Given the description of an element on the screen output the (x, y) to click on. 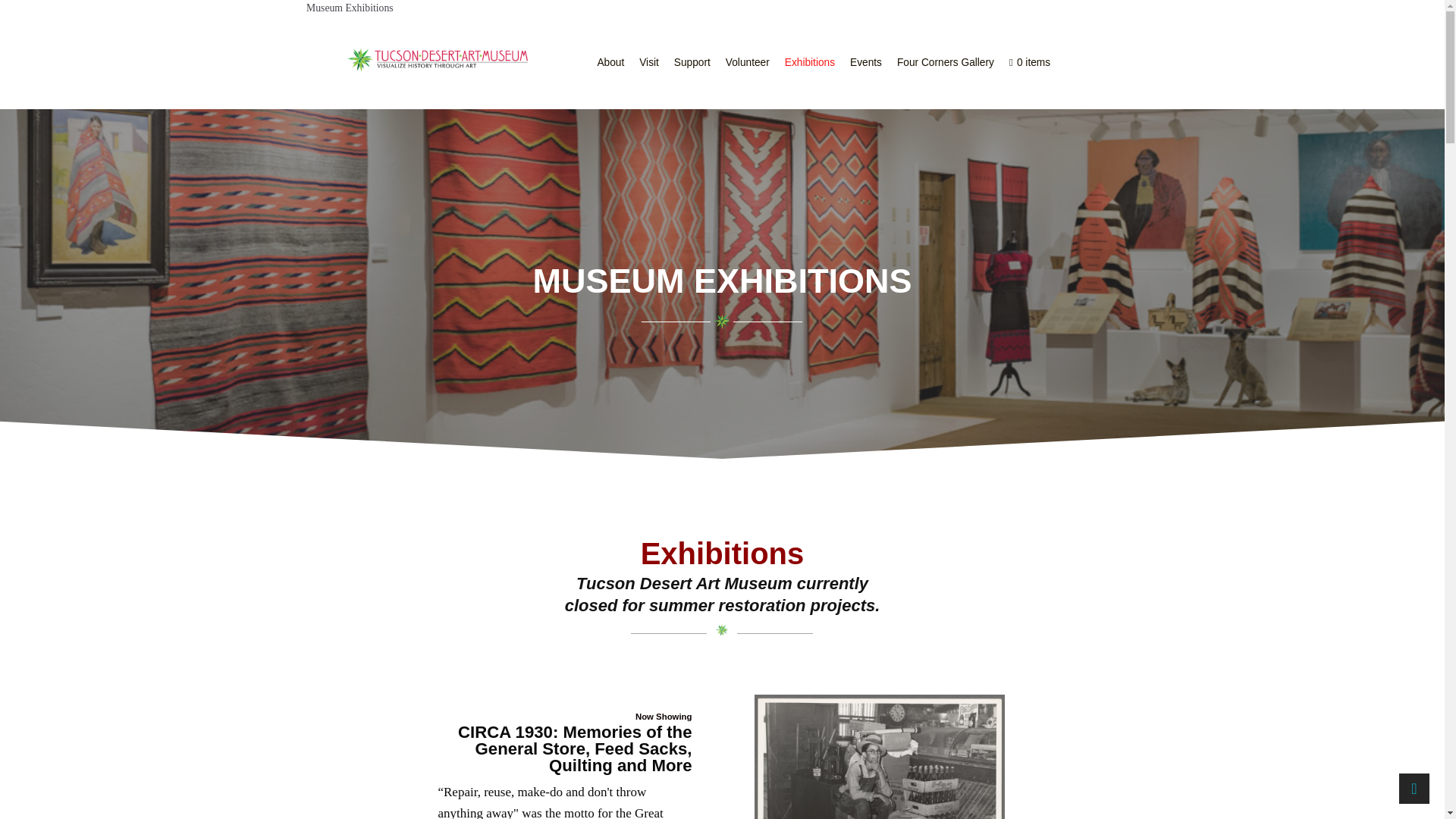
cropped-Logo-1.png (437, 59)
Screen Shot 2023-08-28 at 1.36.24 PM (879, 756)
About (610, 62)
Support (691, 62)
Events (866, 62)
Start shopping (1029, 62)
Visit (648, 62)
Volunteer (747, 62)
Exhibitions (810, 62)
0 items (1029, 62)
Four Corners Gallery (945, 62)
